Given the description of an element on the screen output the (x, y) to click on. 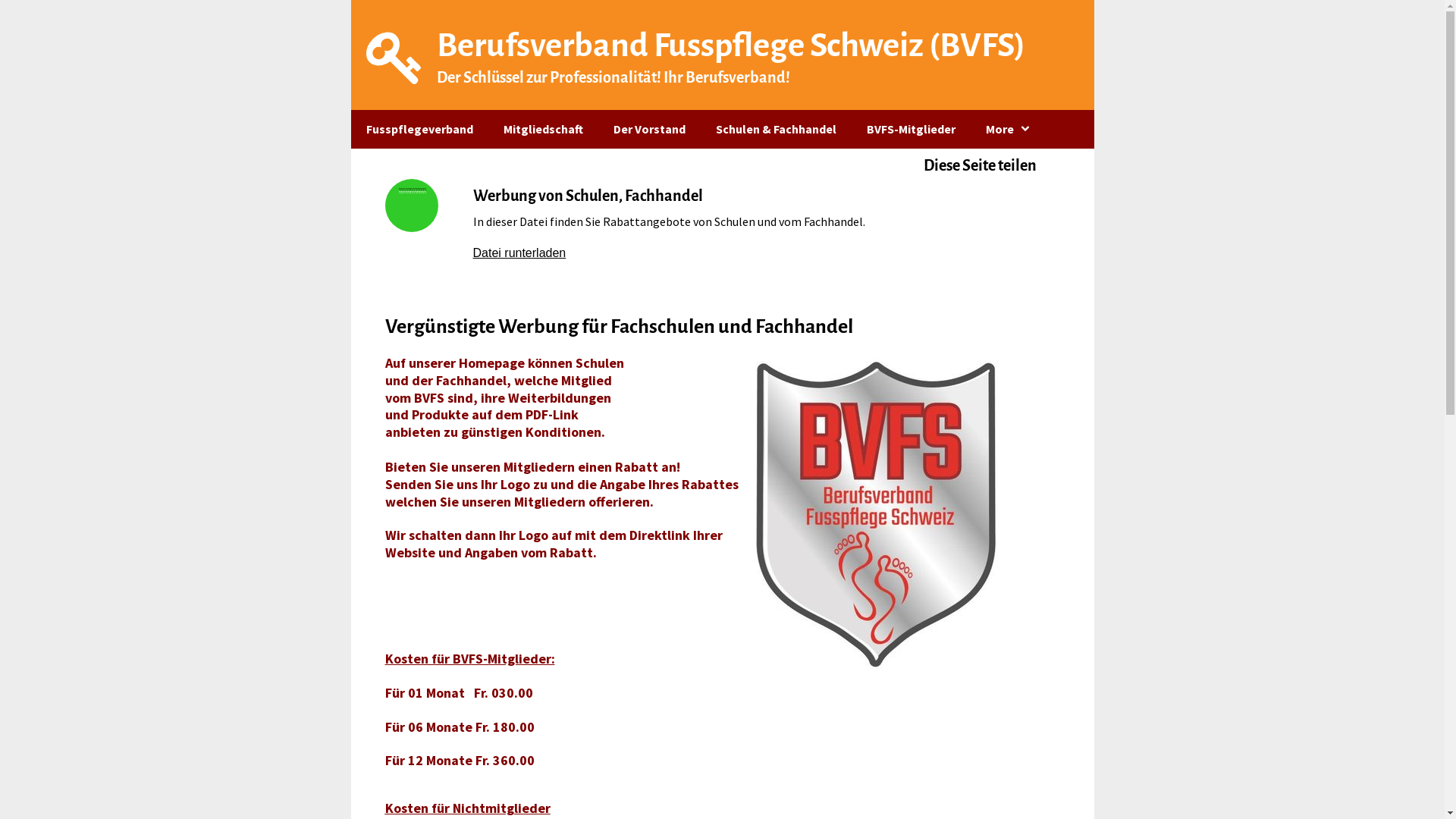
Mitgliedschaft Element type: text (543, 128)
Berufsverband Fusspflege Schweiz (BVFS) Element type: text (730, 44)
Datei runterladen Element type: text (519, 252)
Schulen & Fachhandel Element type: text (775, 128)
More Element type: text (1009, 128)
BVFS-Mitglieder Element type: text (909, 128)
Der Vorstand Element type: text (648, 128)
Fusspflegeverband Element type: text (418, 128)
